Given the description of an element on the screen output the (x, y) to click on. 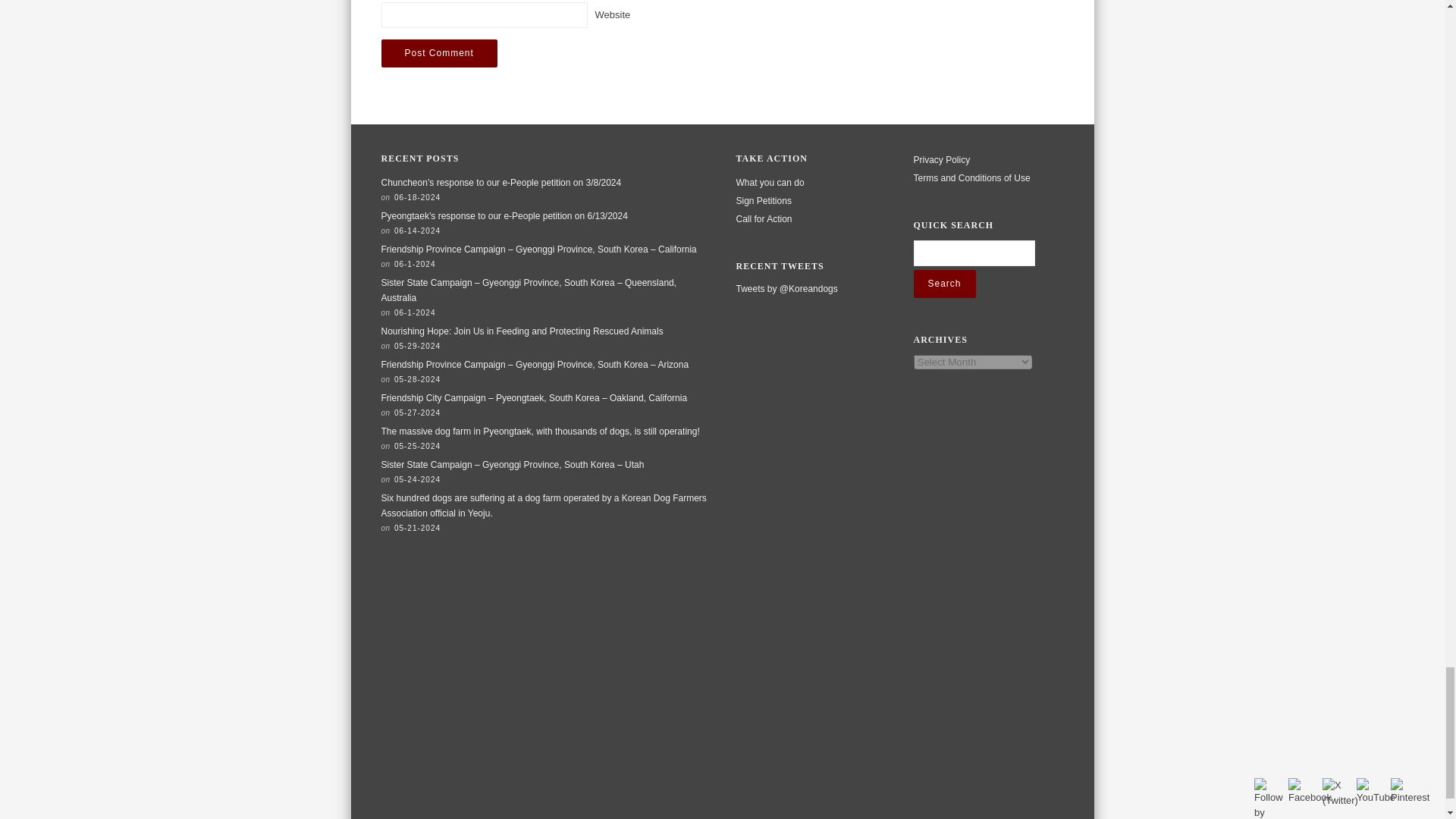
Saturday, June 1st, 2024, 8:09 pm (414, 312)
Saturday, June 1st, 2024, 10:55 pm (414, 264)
Post Comment (438, 53)
Friday, June 14th, 2024, 6:51 am (417, 230)
Tuesday, June 18th, 2024, 11:54 pm (417, 197)
Search (943, 284)
